Given the description of an element on the screen output the (x, y) to click on. 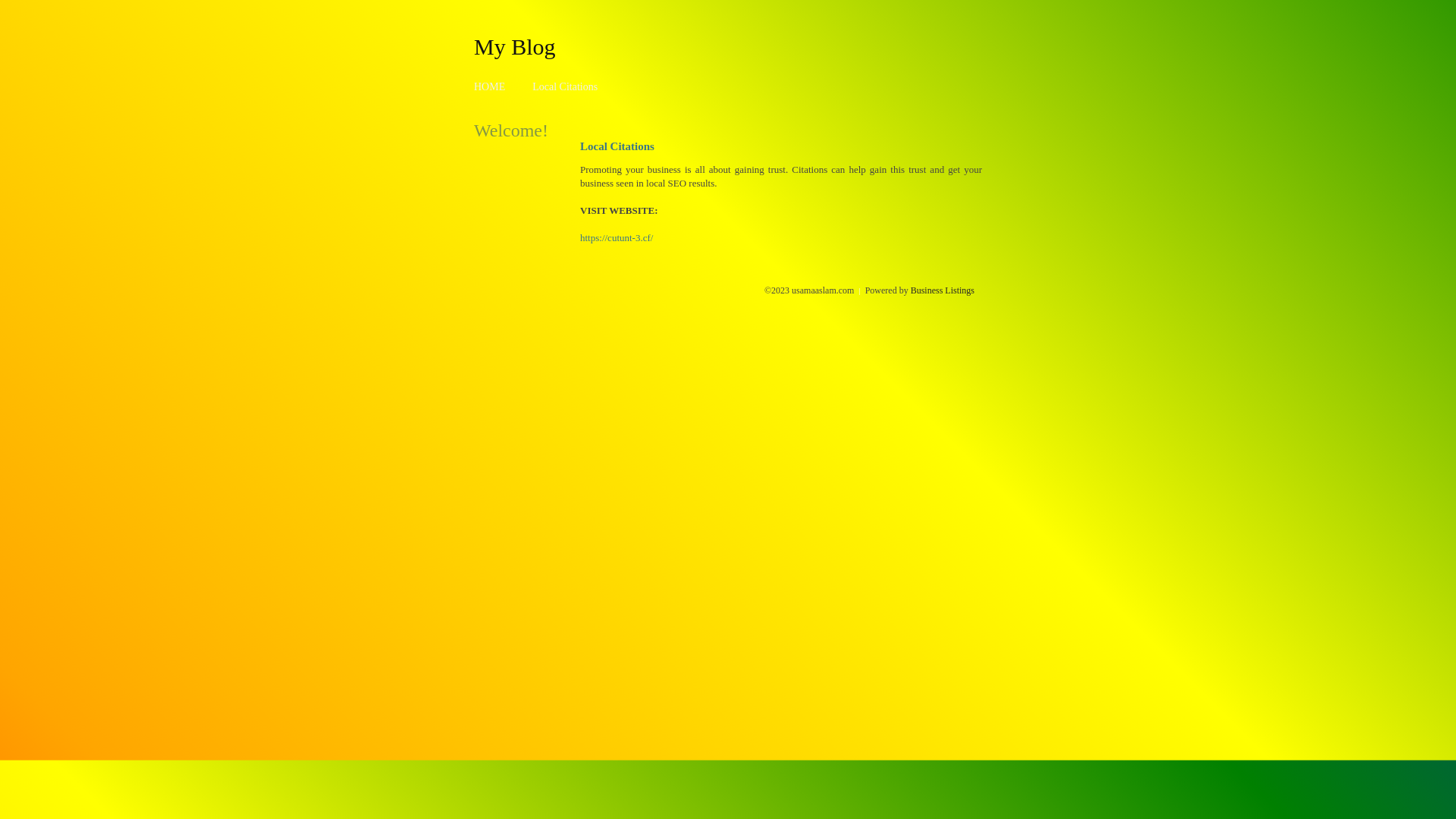
https://cutunt-3.cf/ Element type: text (616, 237)
Business Listings Element type: text (942, 290)
Local Citations Element type: text (564, 86)
My Blog Element type: text (514, 46)
HOME Element type: text (489, 86)
